Given the description of an element on the screen output the (x, y) to click on. 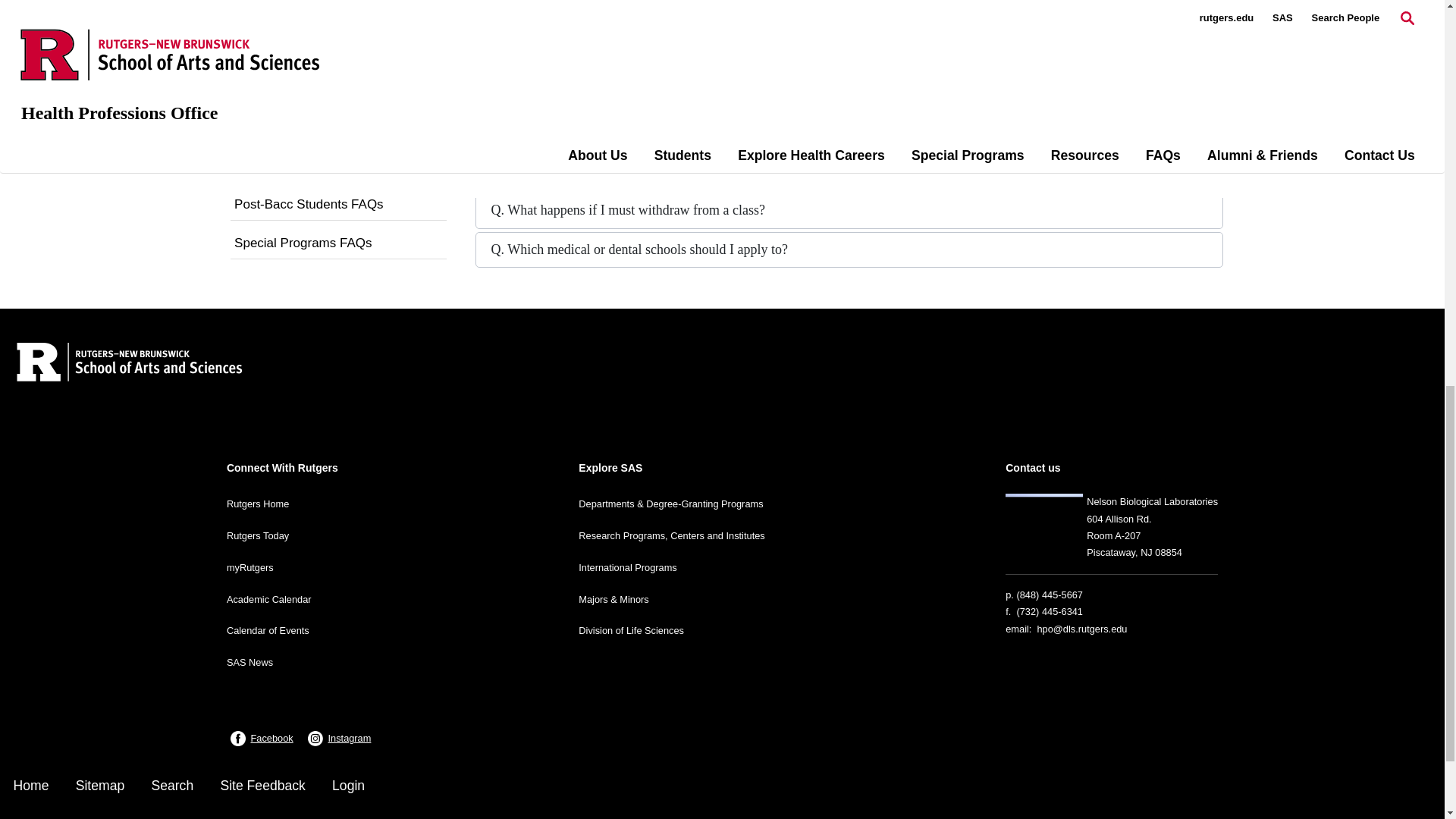
Nelson Labs (1044, 522)
